Given the description of an element on the screen output the (x, y) to click on. 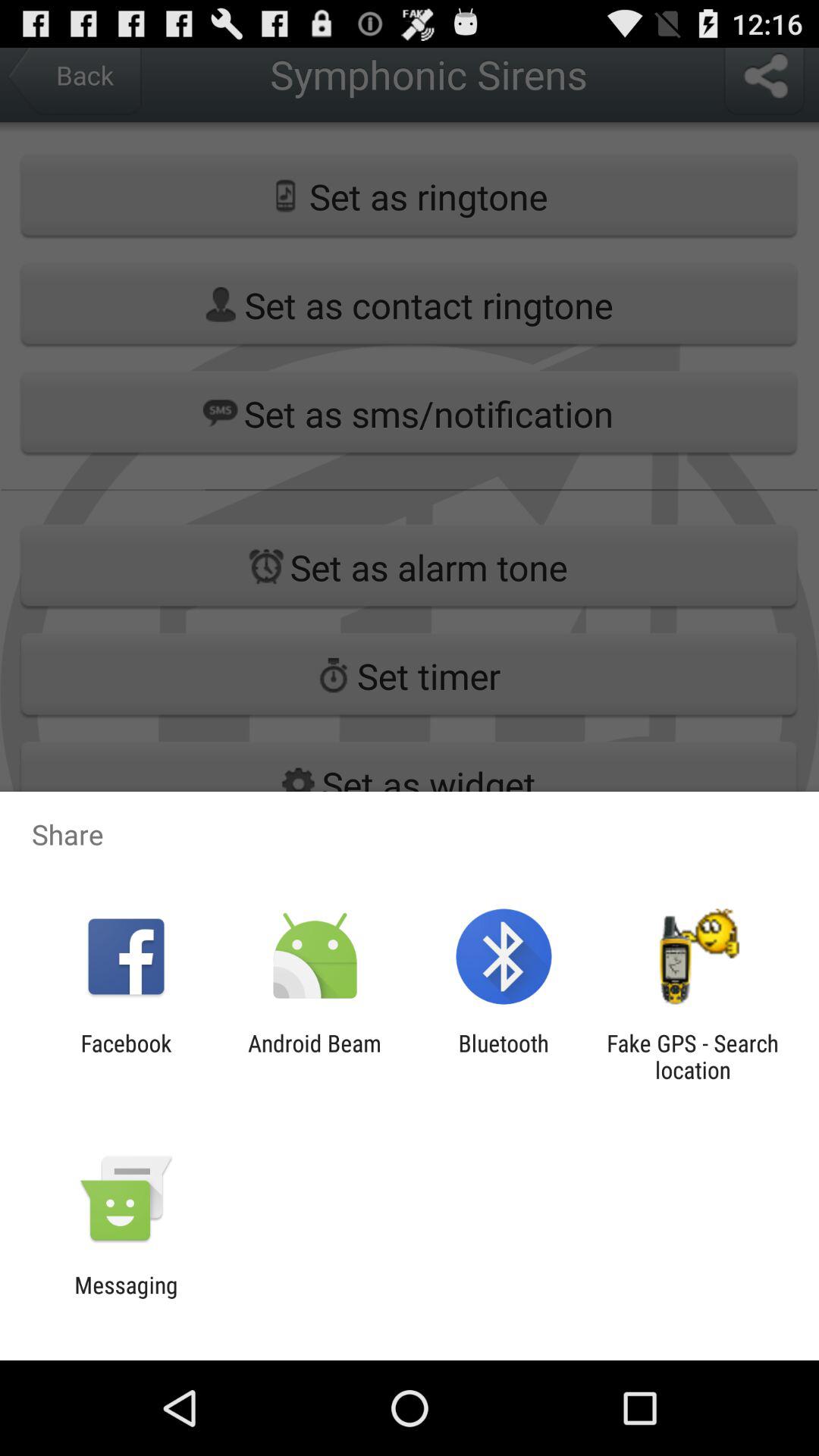
click the app to the left of android beam icon (125, 1056)
